Given the description of an element on the screen output the (x, y) to click on. 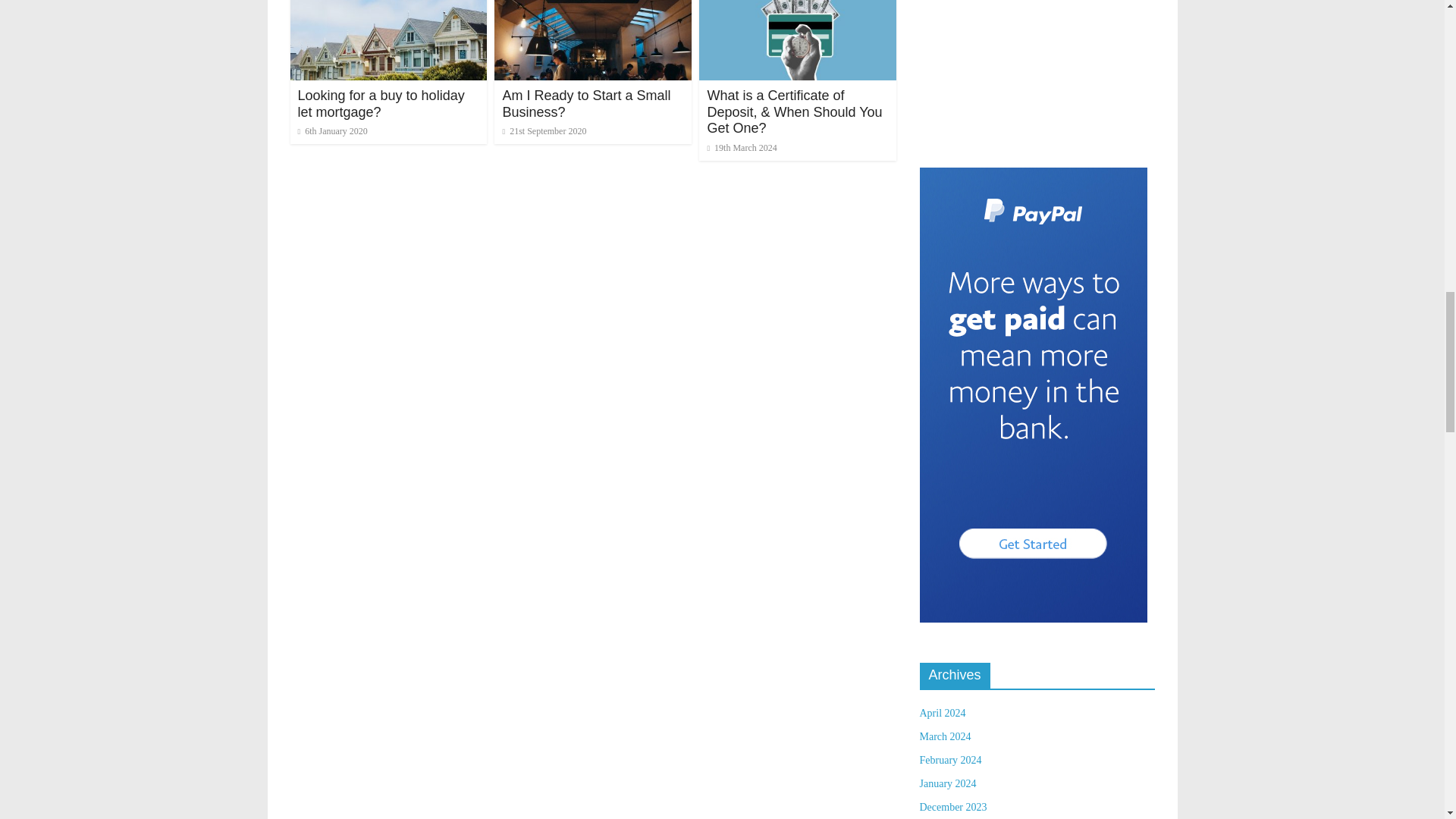
Am I Ready to Start a Small Business? (585, 103)
9:15 am (331, 131)
Looking for a buy to holiday let mortgage? (380, 103)
Looking for a buy to holiday let mortgage? (380, 103)
21st September 2020 (544, 131)
6th January 2020 (331, 131)
